Given the description of an element on the screen output the (x, y) to click on. 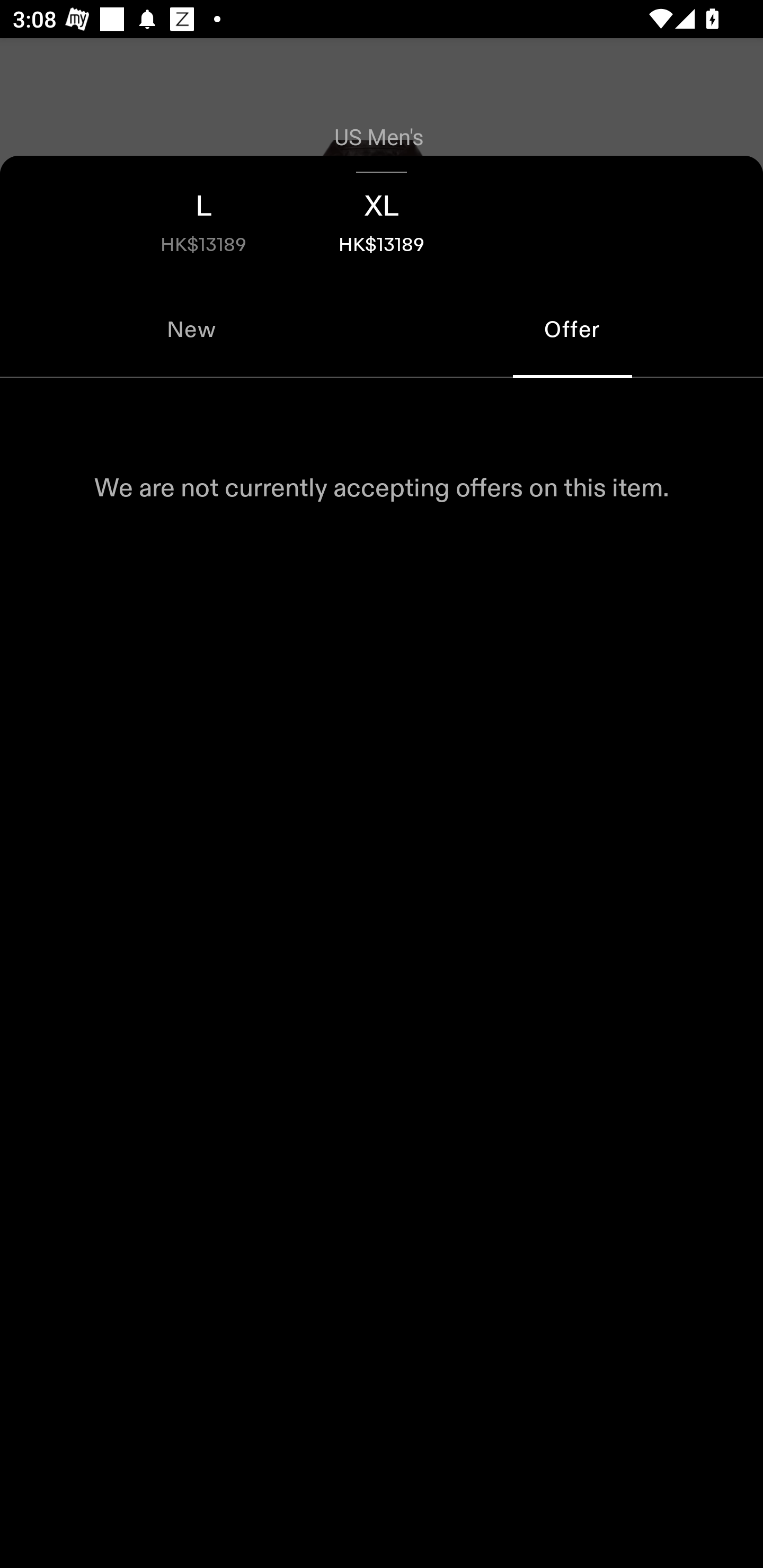
L HK$13189 (203, 218)
XL HK$13189 (381, 218)
New (190, 329)
